Given the description of an element on the screen output the (x, y) to click on. 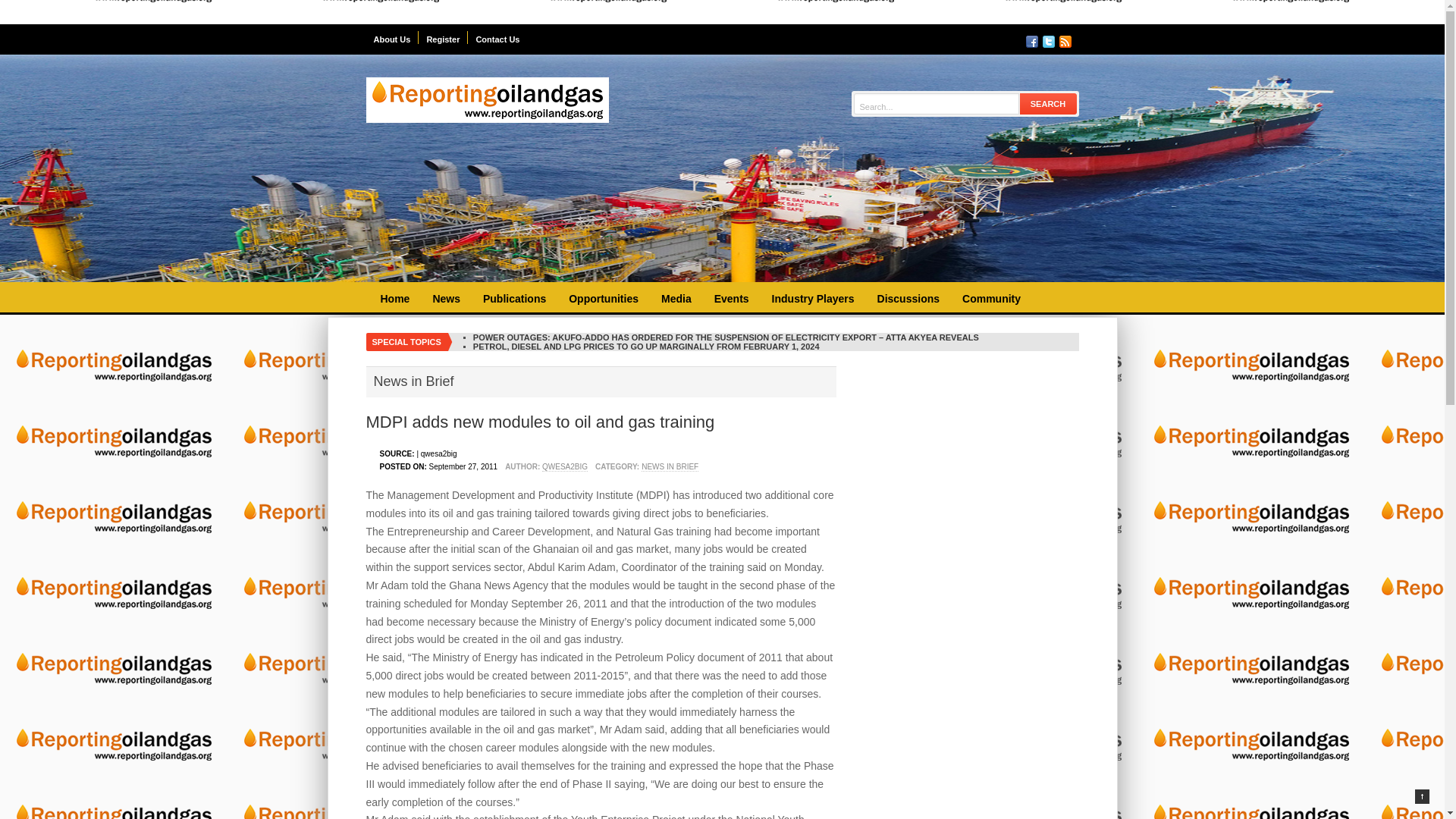
Home (394, 298)
Publications (514, 298)
Media (676, 298)
Community (991, 298)
Industry Players (813, 298)
Register (442, 37)
Contact Us (497, 37)
NEWS IN BRIEF (670, 466)
Facebook (1030, 41)
Events (731, 298)
Search (1047, 103)
QWESA2BIG (564, 466)
Search... (935, 106)
News (445, 298)
